Given the description of an element on the screen output the (x, y) to click on. 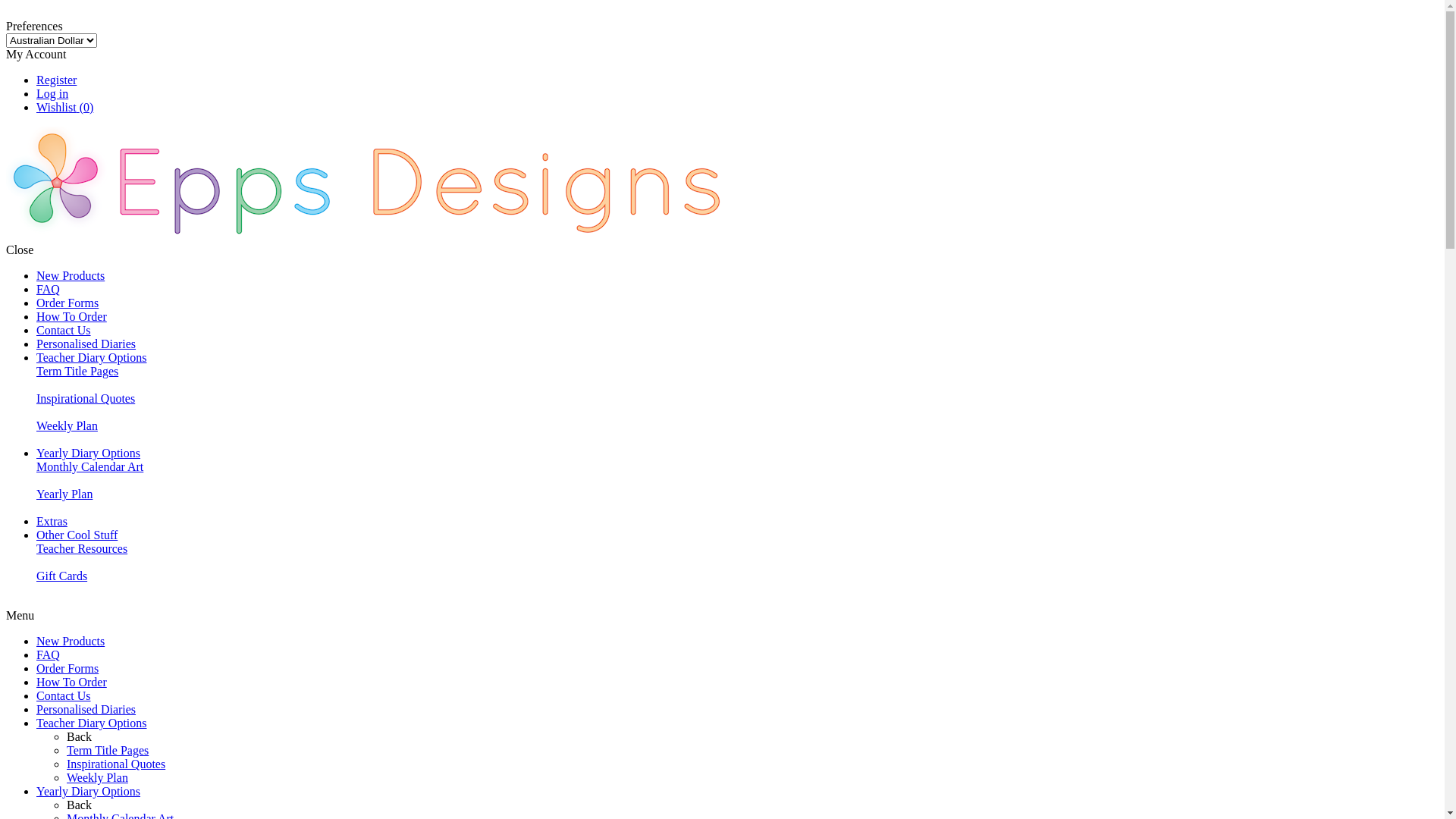
Show products in category Inspirational Quotes Element type: hover (36, 411)
FAQ Element type: text (47, 654)
Show products in category Term Title Pages Element type: hover (36, 384)
Personalised Diaries Element type: text (85, 343)
How To Order Element type: text (71, 681)
Register Element type: text (56, 79)
Yearly Plan Element type: text (64, 493)
Term Title Pages Element type: text (77, 370)
Show products in category Gift Cards Element type: hover (36, 589)
Teacher Diary Options Element type: text (91, 722)
Order Forms Element type: text (67, 302)
Monthly Calendar Art Element type: text (89, 466)
Contact Us Element type: text (63, 695)
Extras Element type: text (51, 520)
Show products in category Weekly Plan Element type: hover (36, 439)
Log in Element type: text (52, 93)
Teacher Diary Options Element type: text (91, 357)
Show products in category Monthly Calendar Art Element type: hover (36, 479)
Other Cool Stuff Element type: text (76, 534)
Show products in category Teacher Resources Element type: hover (36, 561)
Weekly Plan Element type: text (66, 425)
Close Element type: hover (7, 12)
Yearly Diary Options Element type: text (88, 452)
Wishlist (0) Element type: text (64, 106)
New Products Element type: text (70, 640)
Term Title Pages Element type: text (107, 749)
Inspirational Quotes Element type: text (85, 398)
Inspirational Quotes Element type: text (115, 763)
Show products in category Yearly Plan Element type: hover (36, 507)
How To Order Element type: text (71, 316)
Weekly Plan Element type: text (97, 777)
FAQ Element type: text (47, 288)
Order Forms Element type: text (67, 668)
New Products Element type: text (70, 275)
Contact Us Element type: text (63, 329)
Yearly Diary Options Element type: text (88, 790)
Teacher Resources Element type: text (81, 548)
Gift Cards Element type: text (61, 575)
Personalised Diaries Element type: text (85, 708)
